Given the description of an element on the screen output the (x, y) to click on. 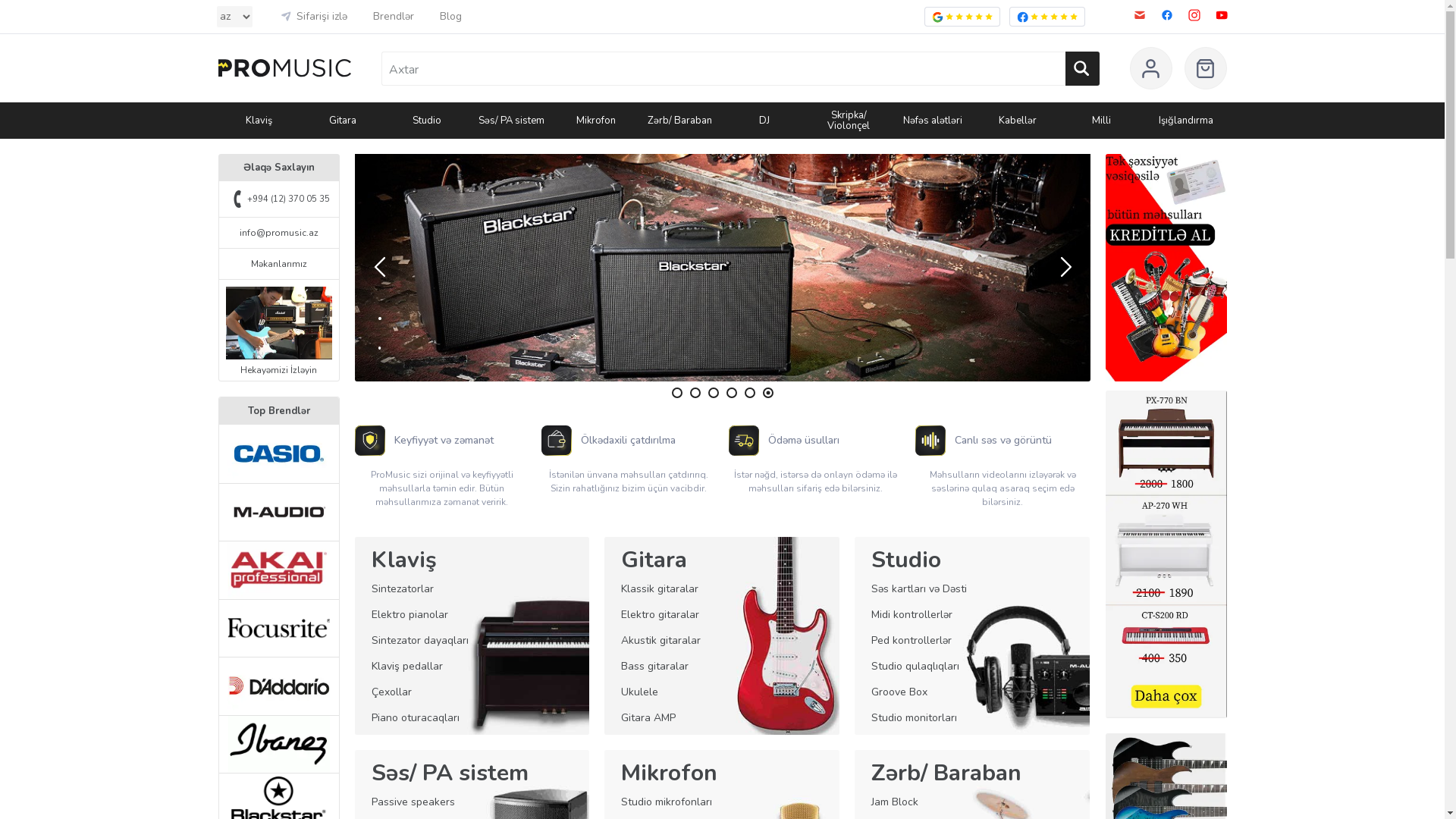
Mikrofon Element type: text (669, 772)
info@promusic.az Element type: text (278, 232)
Gitara Element type: text (342, 120)
Jam Block Element type: text (894, 801)
Elektro pianolar Element type: text (409, 614)
Studio Element type: text (906, 559)
Klassik gitaralar Element type: text (659, 588)
Passive speakers Element type: text (413, 801)
Akustik gitaralar Element type: text (660, 640)
Search Element type: text (1081, 68)
Blog Element type: text (450, 16)
Elektro gitaralar Element type: text (660, 614)
Gitara Element type: text (654, 559)
. Element type: text (722, 267)
Studio Element type: text (426, 120)
Gitara AMP Element type: text (648, 717)
Milli Element type: text (1101, 120)
DJ Element type: text (764, 120)
Sintezatorlar Element type: text (402, 588)
Groove Box Element type: text (899, 691)
Mikrofon Element type: text (595, 120)
ProMusic Element type: hover (284, 68)
Ukulele Element type: text (639, 691)
Bass gitaralar Element type: text (654, 665)
